Given the description of an element on the screen output the (x, y) to click on. 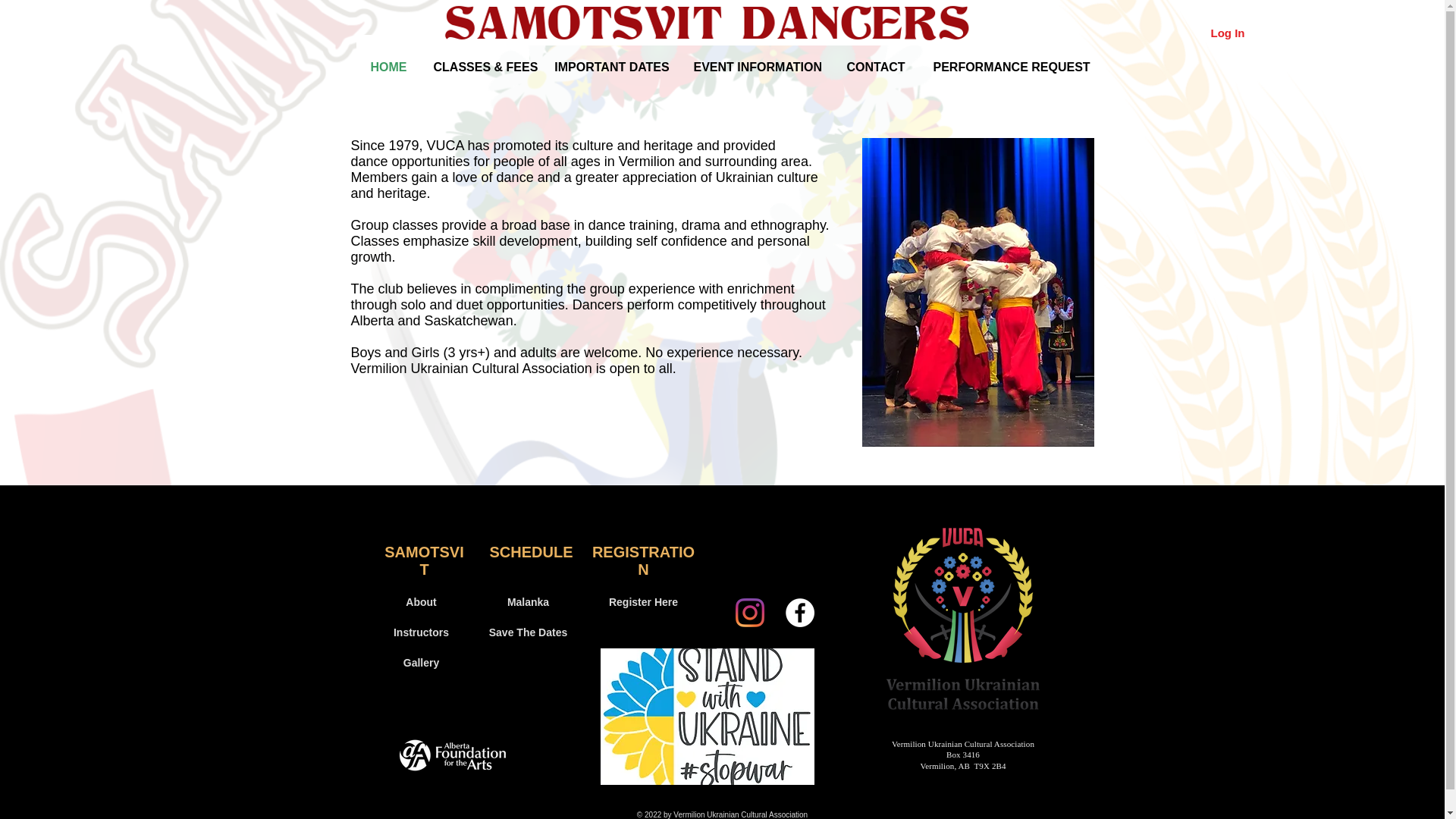
Save The Dates (527, 633)
Log In (1227, 32)
HOME (389, 67)
IMPORTANT DATES (611, 67)
About (421, 603)
CONTACT (874, 67)
Register Here (643, 603)
Gallery (421, 663)
Malanka (527, 603)
Instructors (421, 633)
PERFORMANCE REQUEST (1004, 67)
